Given the description of an element on the screen output the (x, y) to click on. 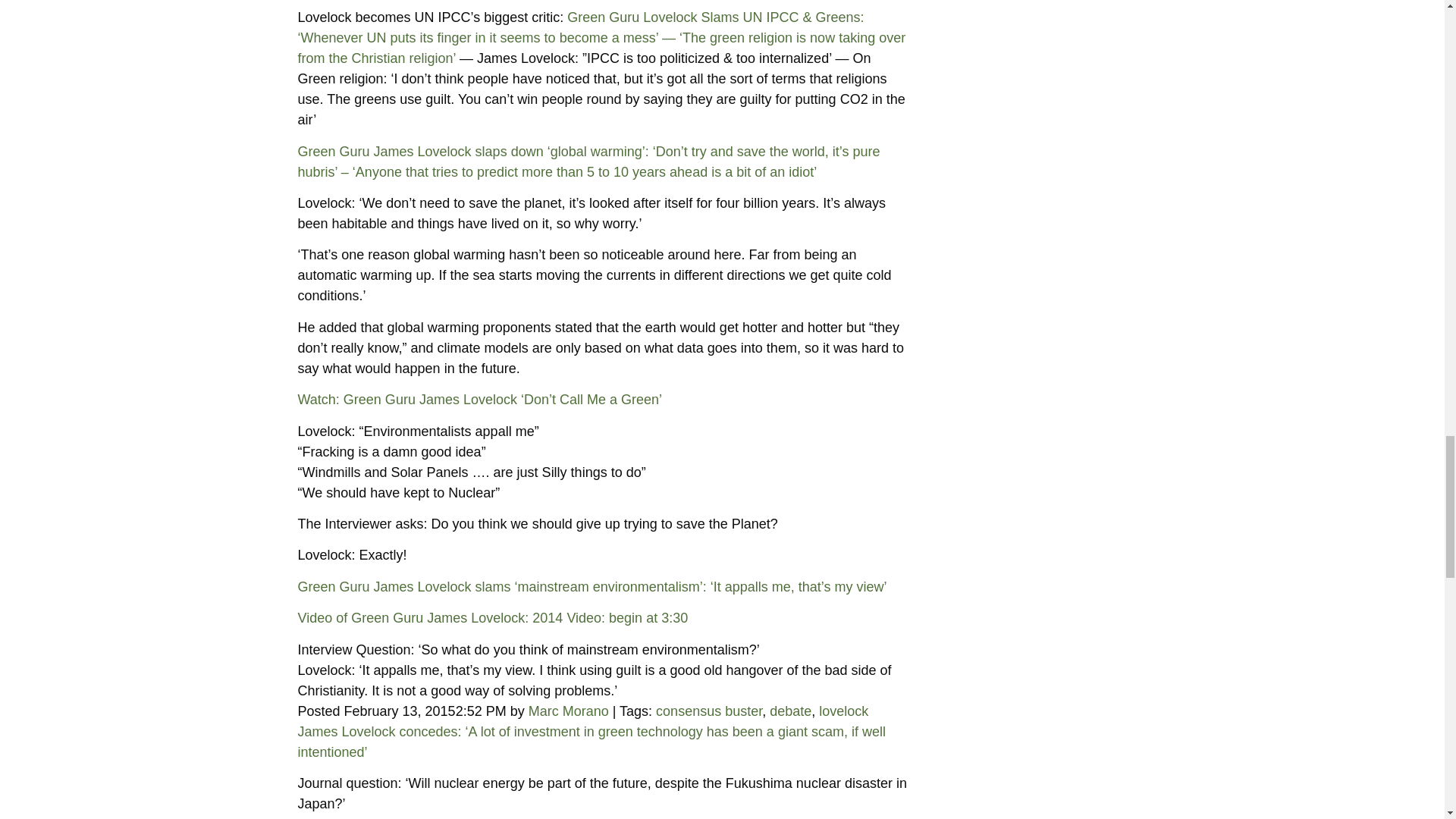
Posts by Marc Morano (568, 711)
consensus buster (708, 711)
lovelock (842, 711)
Marc Morano (568, 711)
debate (790, 711)
